Given the description of an element on the screen output the (x, y) to click on. 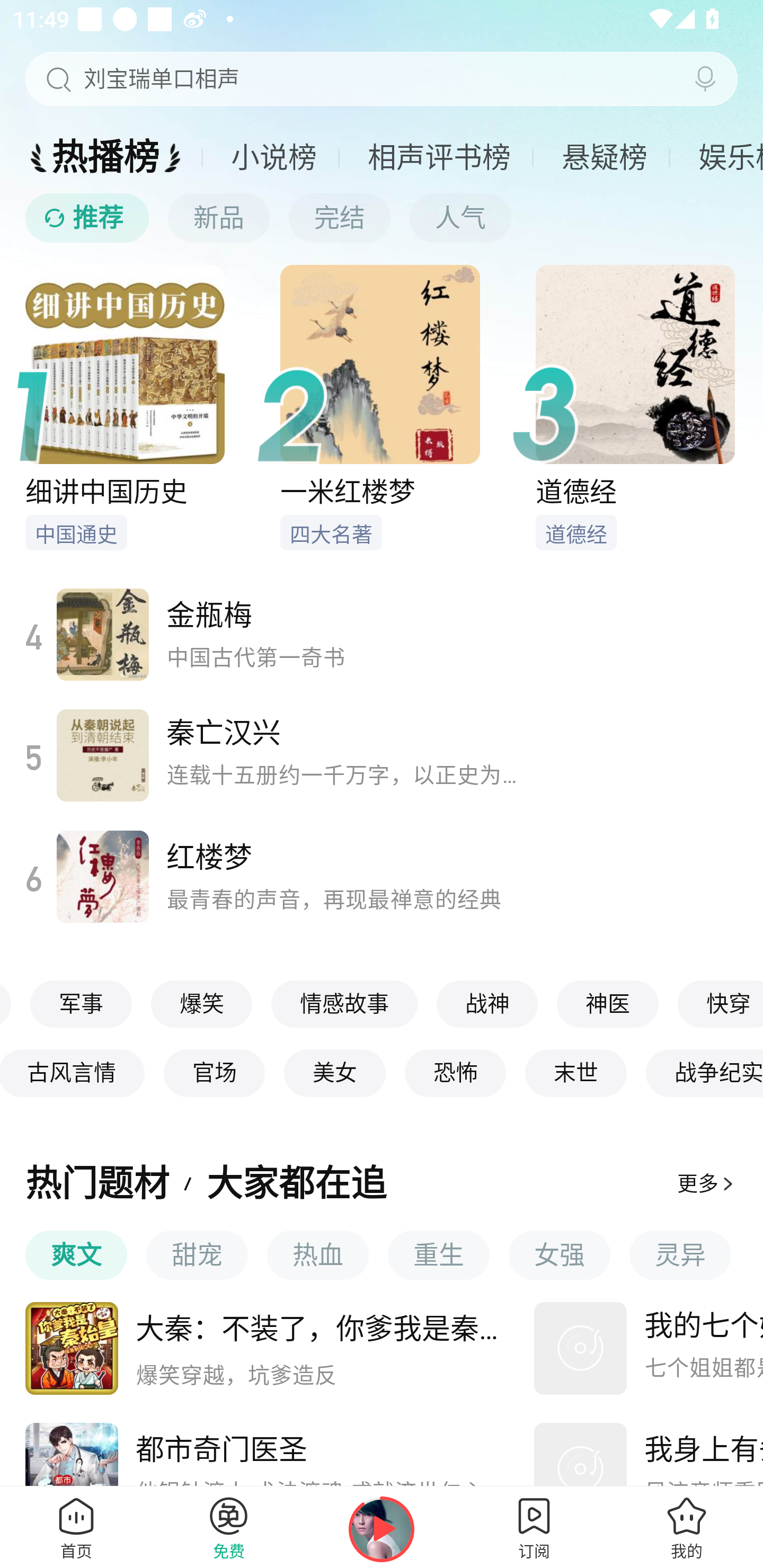
刘宝瑞单口相声 (381, 78)
热播榜 (106, 157)
小说榜 (274, 157)
相声评书榜 (439, 157)
悬疑榜 (604, 157)
推荐 (86, 217)
新品 (218, 217)
完结 (339, 217)
人气 (460, 217)
细讲中国历史 中国通史 (152, 407)
一米红楼梦 四大名著 (407, 407)
道德经 (634, 407)
4 金瓶梅 中国古代第一奇书 (262, 634)
5 秦亡汉兴 连载十五册约一千万字，以正史为骨的中国通史，一个人... (262, 754)
6 红楼梦 最青春的声音，再现最禅意的经典 (262, 877)
军事 (82, 1003)
爆笑 (203, 1003)
情感故事 (345, 1003)
战神 (487, 1003)
神医 (608, 1003)
快穿 (721, 1003)
古风言情 (72, 1072)
官场 (215, 1072)
美女 (335, 1072)
恐怖 (456, 1072)
末世 (576, 1072)
战争纪实 (705, 1072)
更多 (707, 1184)
爽文 (76, 1254)
甜宠 (196, 1254)
热血 (317, 1254)
重生 (438, 1254)
女强 (559, 1254)
灵异 (679, 1254)
大秦：不装了，你爹我是秦始皇 爆笑穿越，坑爹造反 (270, 1348)
都市奇门医圣 他银针渡人,术法渡魂,成就济世仁心 (270, 1456)
首页 (76, 1526)
免费 (228, 1526)
订阅 (533, 1526)
我的 (686, 1526)
继续播放Alpha-橘子海OrangeOcean (381, 1529)
